Given the description of an element on the screen output the (x, y) to click on. 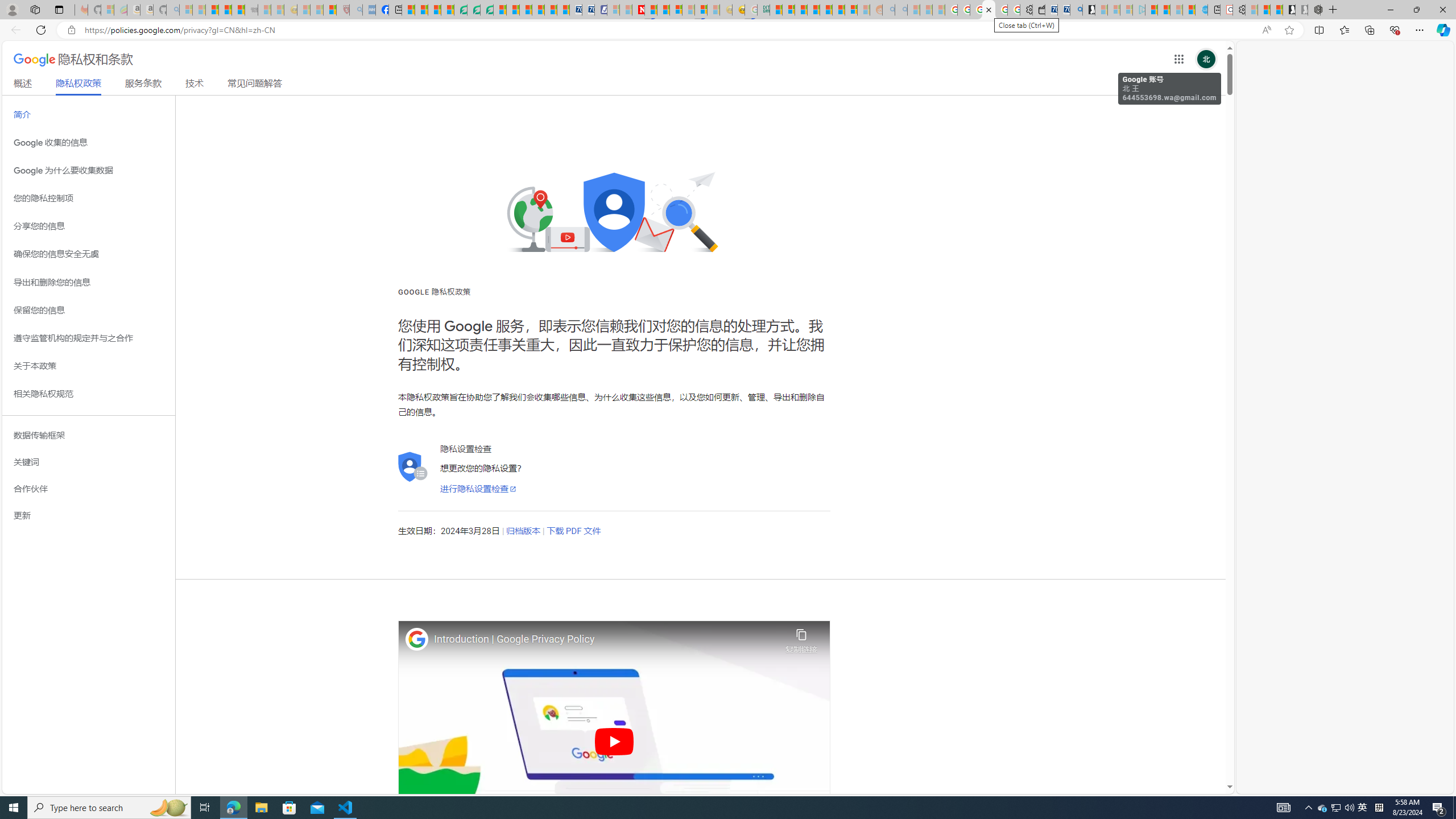
The Weather Channel - MSN (212, 9)
